Given the description of an element on the screen output the (x, y) to click on. 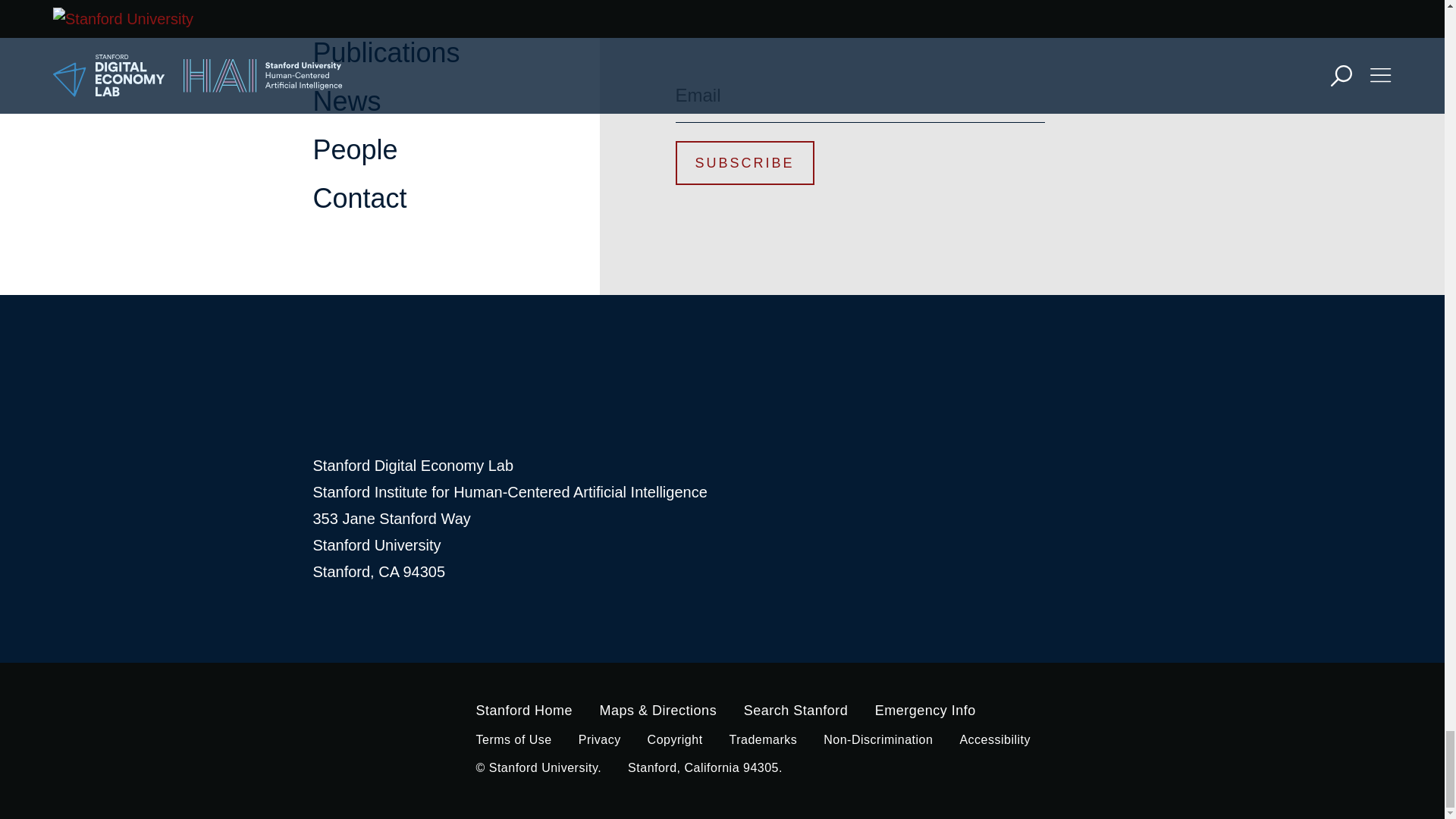
Privacy and cookie policy (599, 739)
Report alleged copyright infringement (675, 739)
Terms of use for sites (513, 739)
Ownership and use of Stanford trademarks and images (763, 739)
Non-discrimination policy (878, 739)
Subscribe (744, 162)
Report web accessibility issues (994, 739)
